Given the description of an element on the screen output the (x, y) to click on. 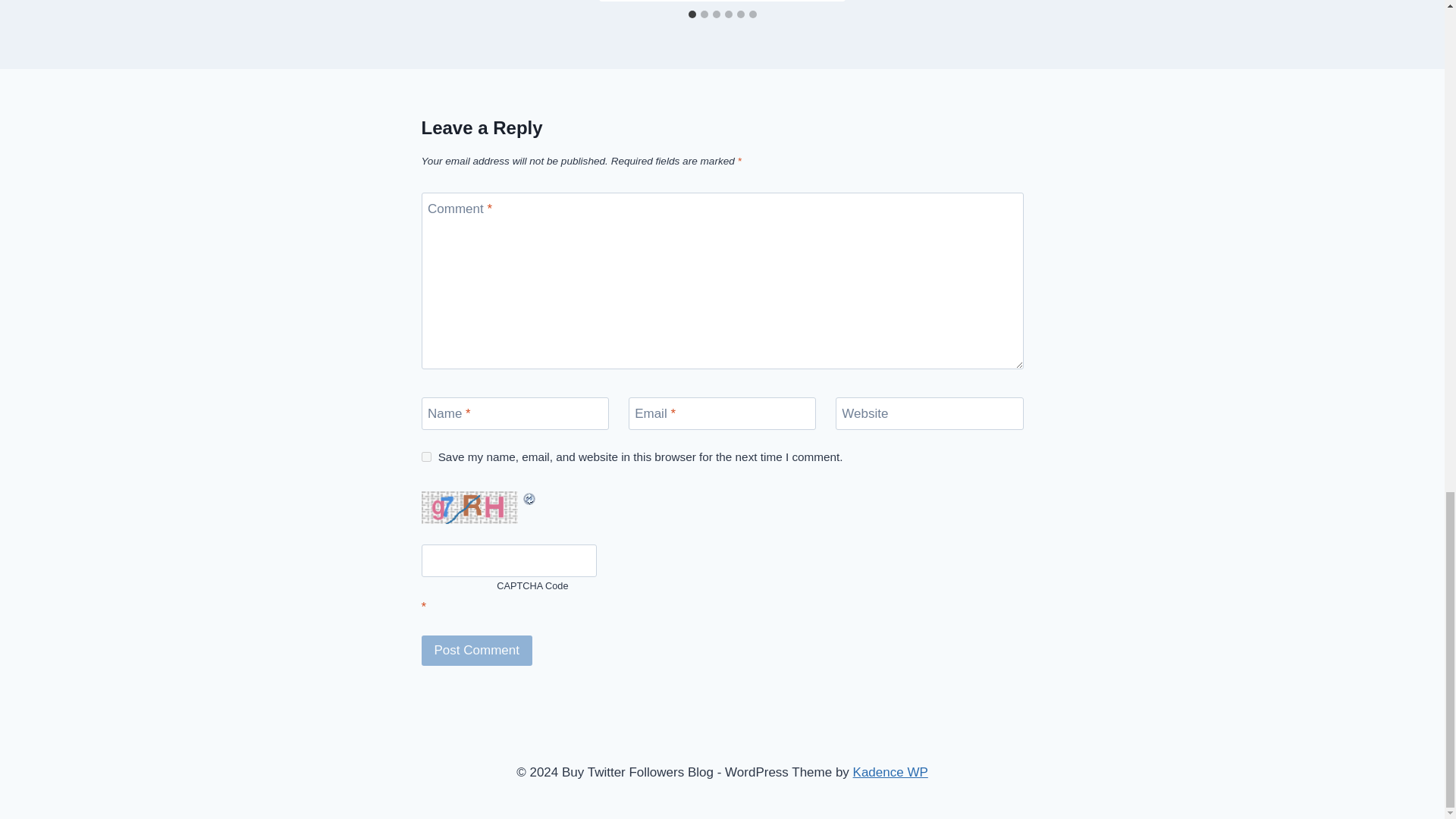
Refresh (488, 498)
CAPTCHA (471, 507)
yes (426, 456)
Post Comment (477, 650)
